Given the description of an element on the screen output the (x, y) to click on. 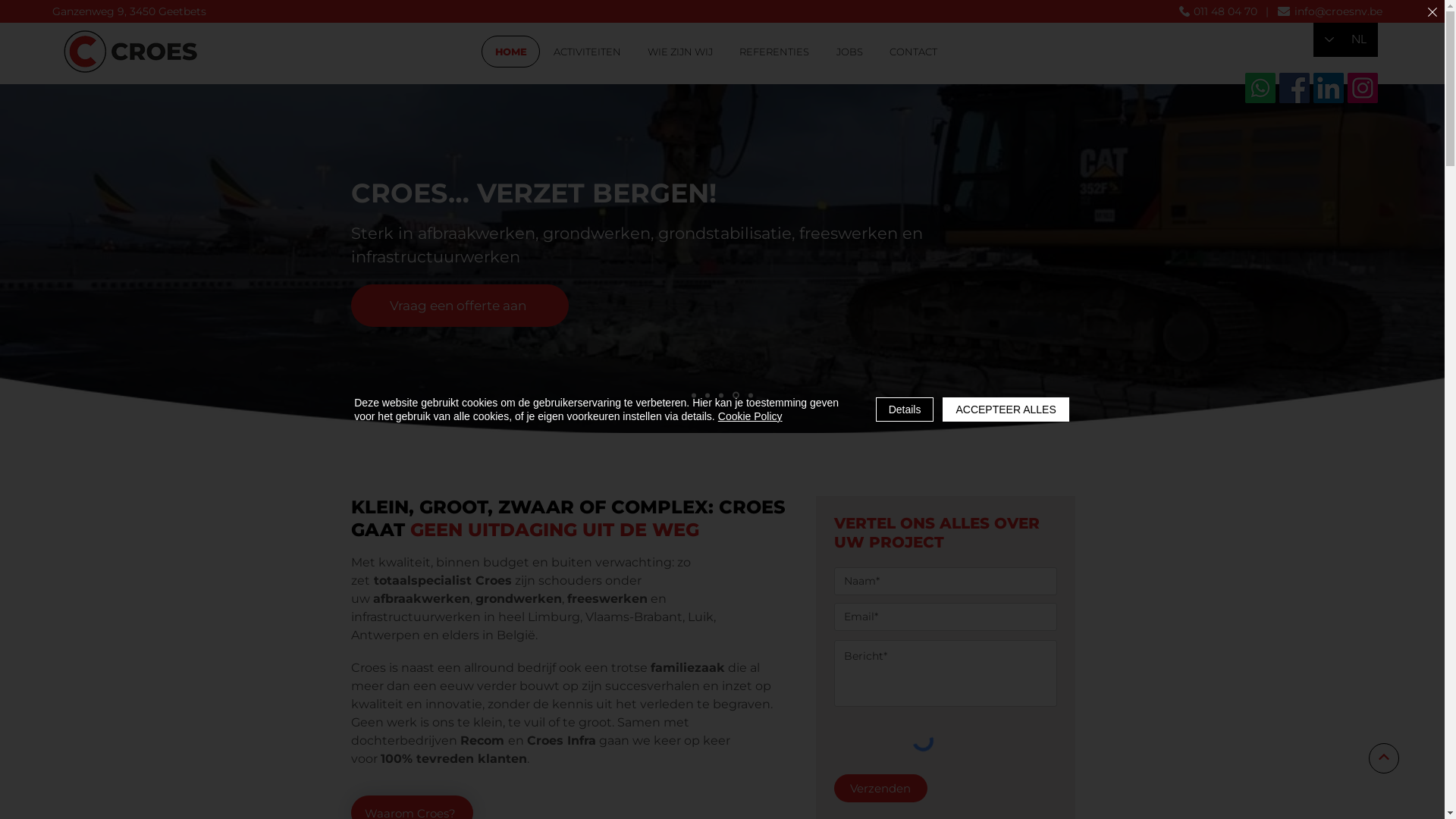
Details Element type: text (904, 409)
WIE ZIJN WIJ Element type: text (680, 51)
HOME Element type: text (510, 51)
Cookie Policy Element type: text (750, 416)
CONTACT Element type: text (912, 51)
info@croesnv.be Element type: text (1338, 11)
Verzenden Element type: text (880, 788)
Vraag een offerte aan Element type: text (458, 304)
REFERENTIES Element type: text (774, 51)
JOBS Element type: text (848, 51)
011 48 04 70 Element type: text (1225, 11)
ACCEPTEER ALLES Element type: text (1005, 409)
